Given the description of an element on the screen output the (x, y) to click on. 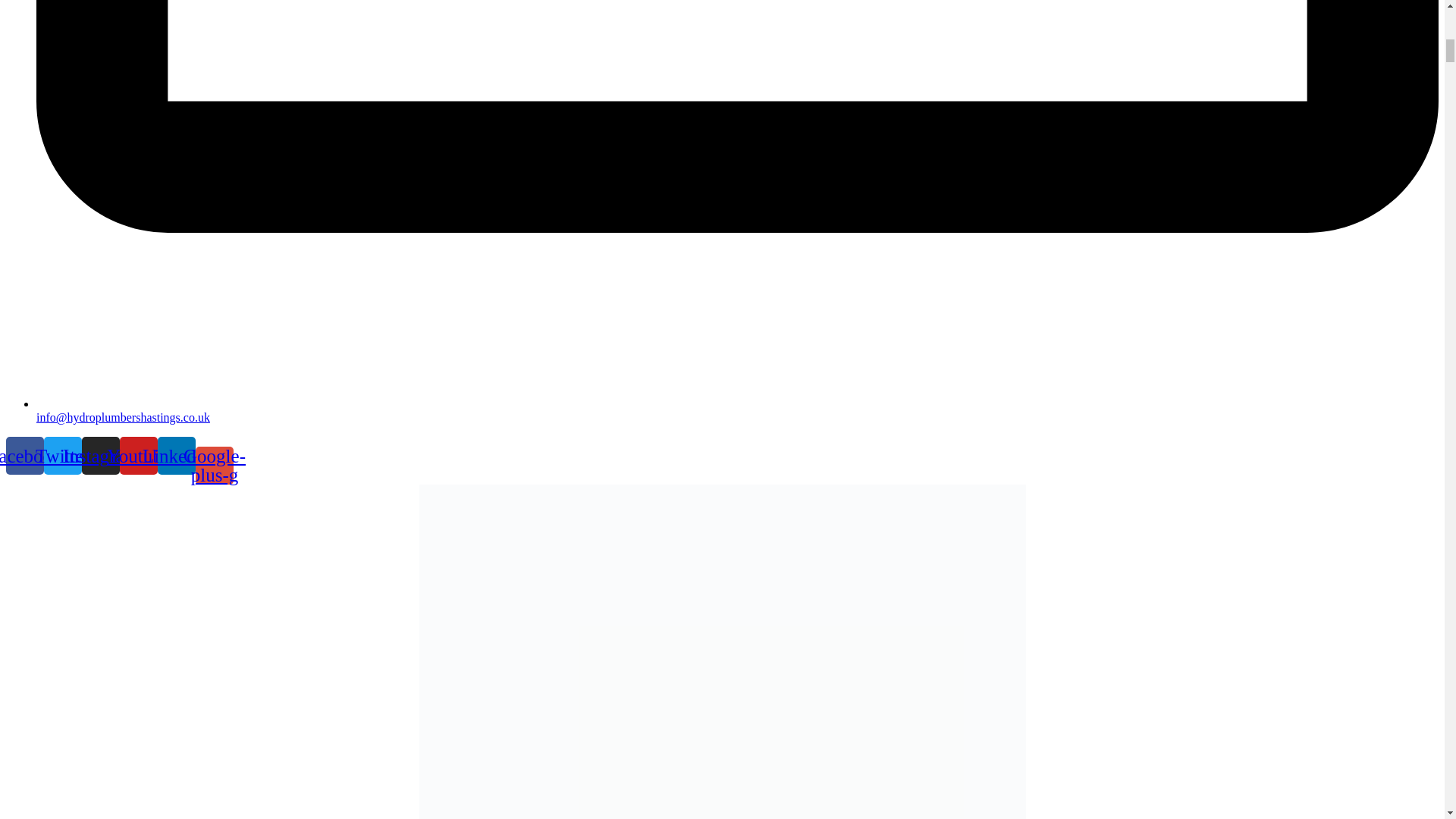
Facebook (24, 455)
Twitter (62, 455)
Linkedin (176, 455)
Instagram (100, 455)
Google-plus-g (213, 464)
Youtube (138, 455)
